Given the description of an element on the screen output the (x, y) to click on. 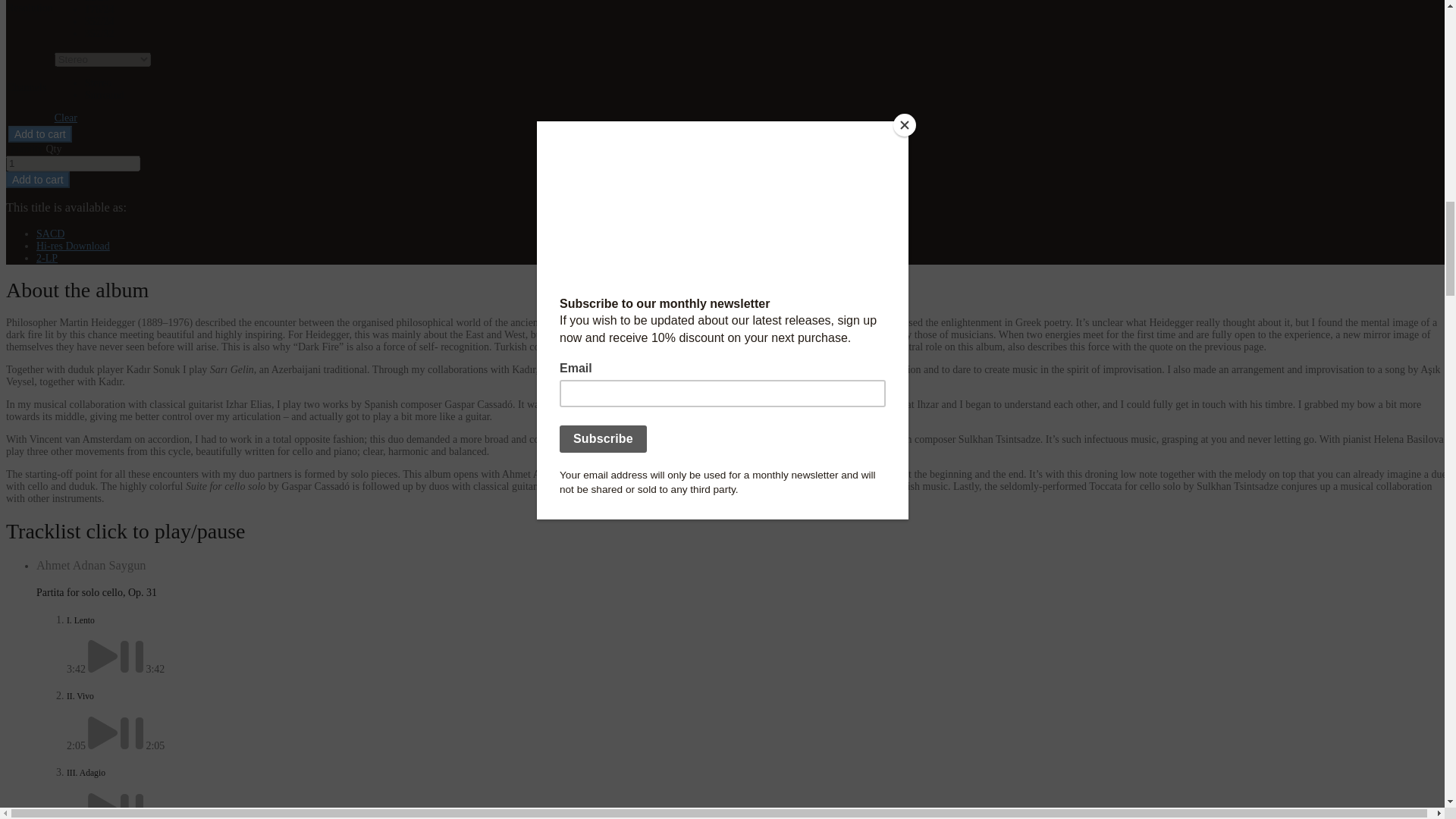
1 (72, 163)
Clear (66, 117)
